Given the description of an element on the screen output the (x, y) to click on. 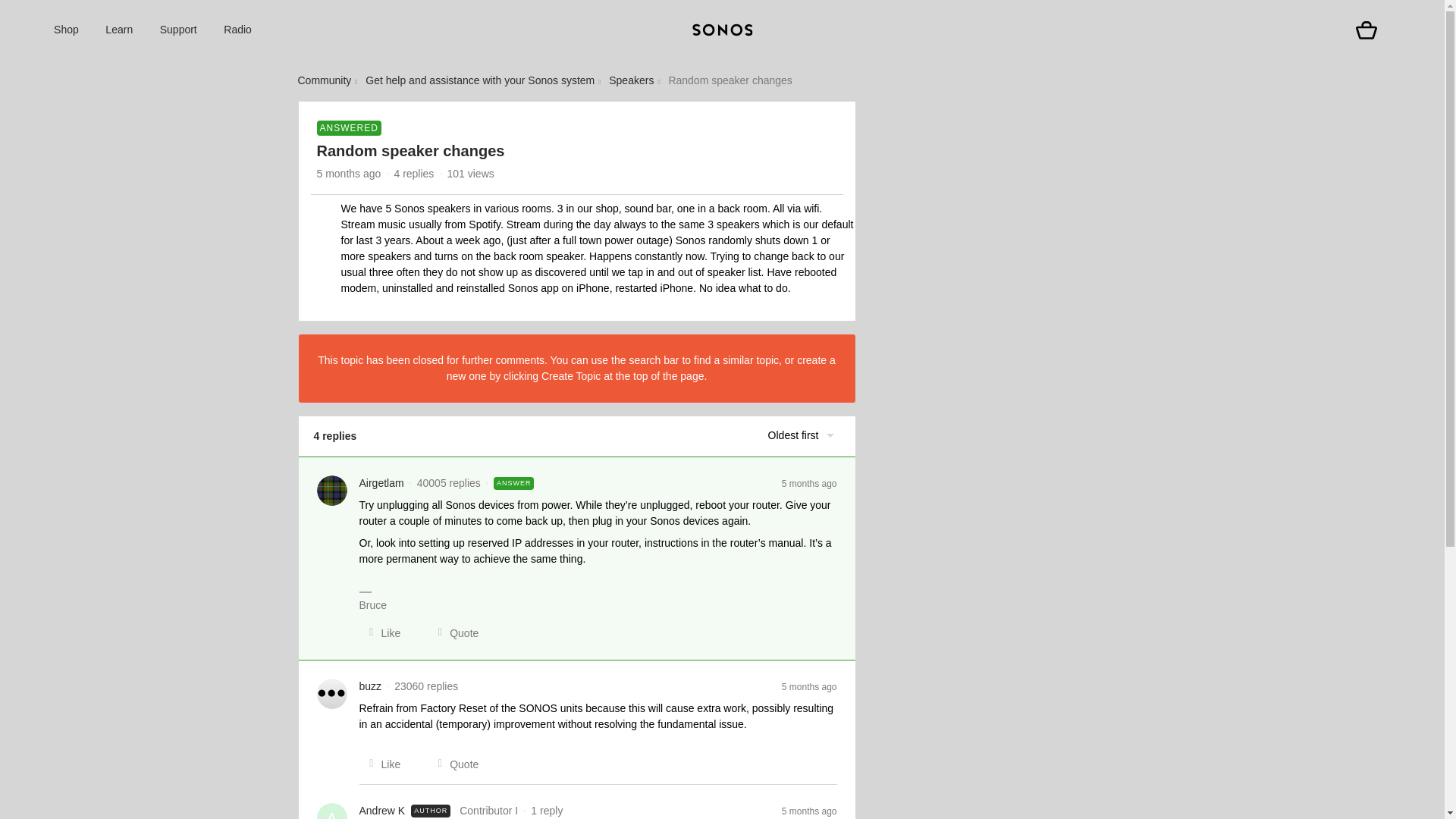
buzz (370, 686)
Radio (237, 30)
Community (323, 80)
4 replies (413, 173)
Speakers (630, 80)
Learn (118, 30)
Support (178, 30)
Shop (65, 30)
Get help and assistance with your Sonos system (479, 80)
Airgetlam (381, 482)
